Given the description of an element on the screen output the (x, y) to click on. 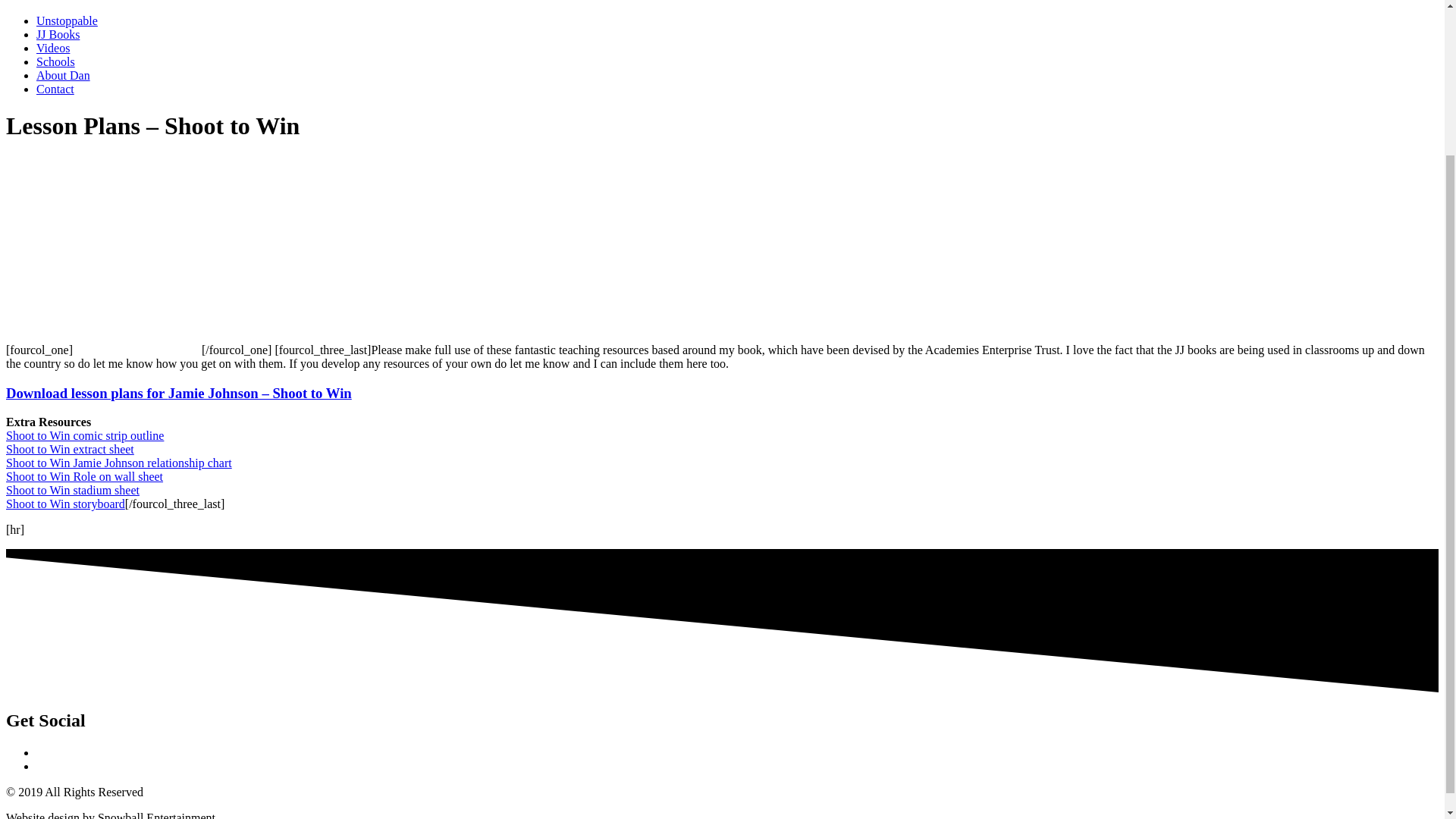
About Dan (63, 74)
Shoot to Win comic strip outline (84, 435)
Shoot to Win stadium sheet (72, 490)
Contact (55, 88)
Videos (52, 47)
JJ Books (58, 33)
Shoot to Win Jamie Johnson relationship chart (118, 462)
Unstoppable (66, 20)
Shoot to Win extract sheet (69, 449)
Schools (55, 61)
